Given the description of an element on the screen output the (x, y) to click on. 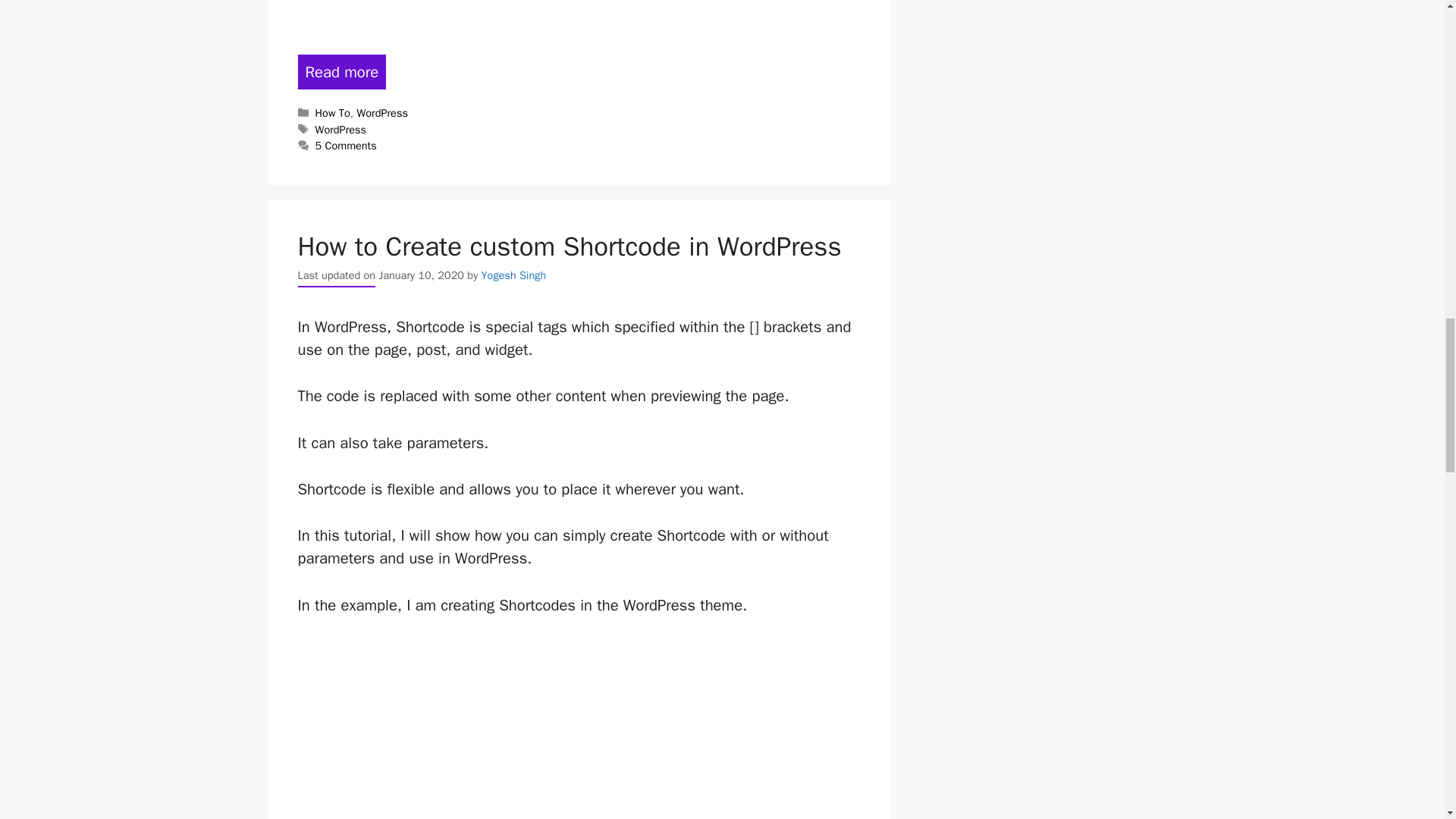
Read more (341, 71)
How To (332, 112)
View all posts by Yogesh Singh (514, 274)
How to create simple WordPress Plugin (341, 71)
